Given the description of an element on the screen output the (x, y) to click on. 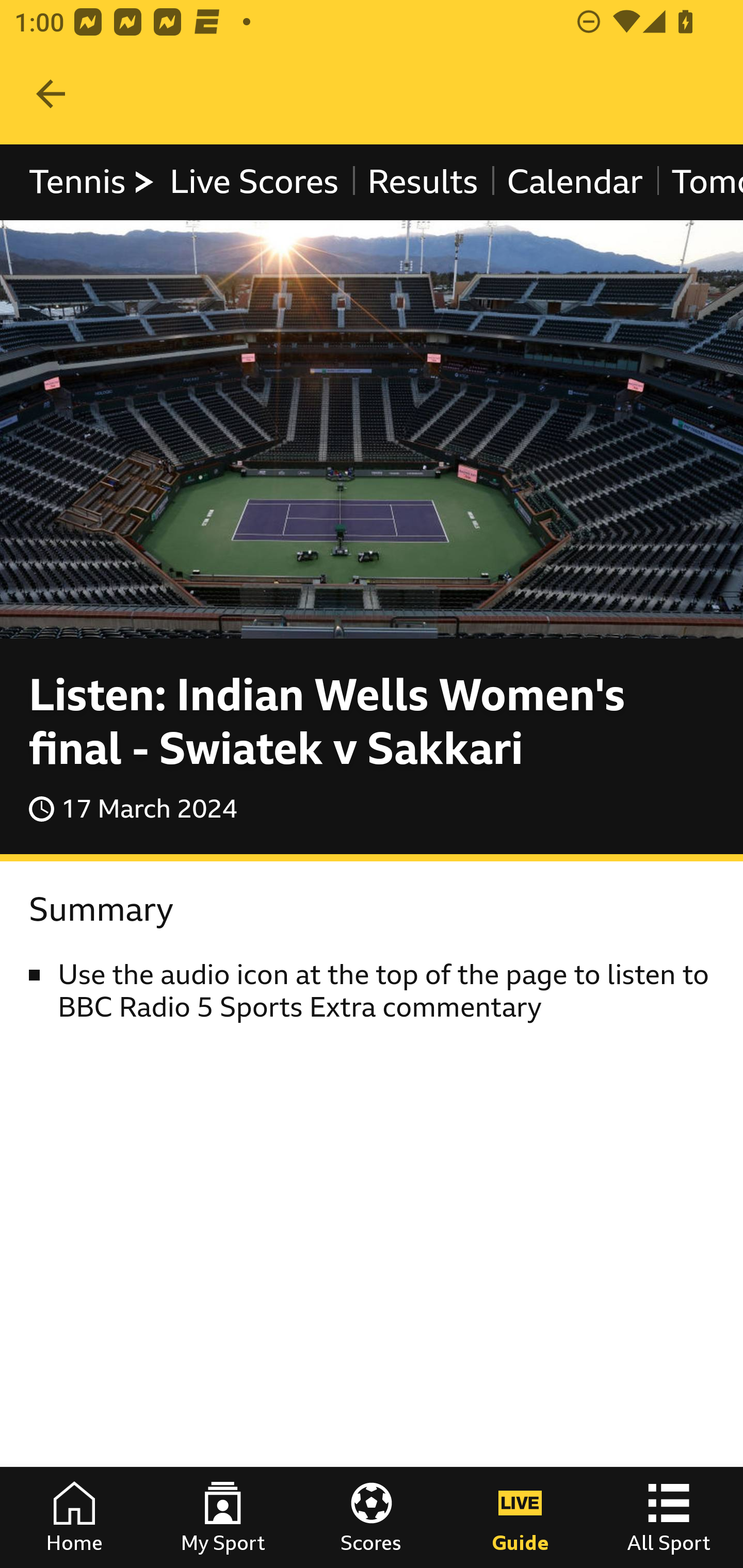
Navigate up (50, 93)
Tennis  (92, 181)
Live Scores (253, 181)
Results (422, 181)
Calendar (575, 181)
Tomorrow's Order of Play (699, 181)
Home (74, 1517)
My Sport (222, 1517)
Scores (371, 1517)
All Sport (668, 1517)
